Given the description of an element on the screen output the (x, y) to click on. 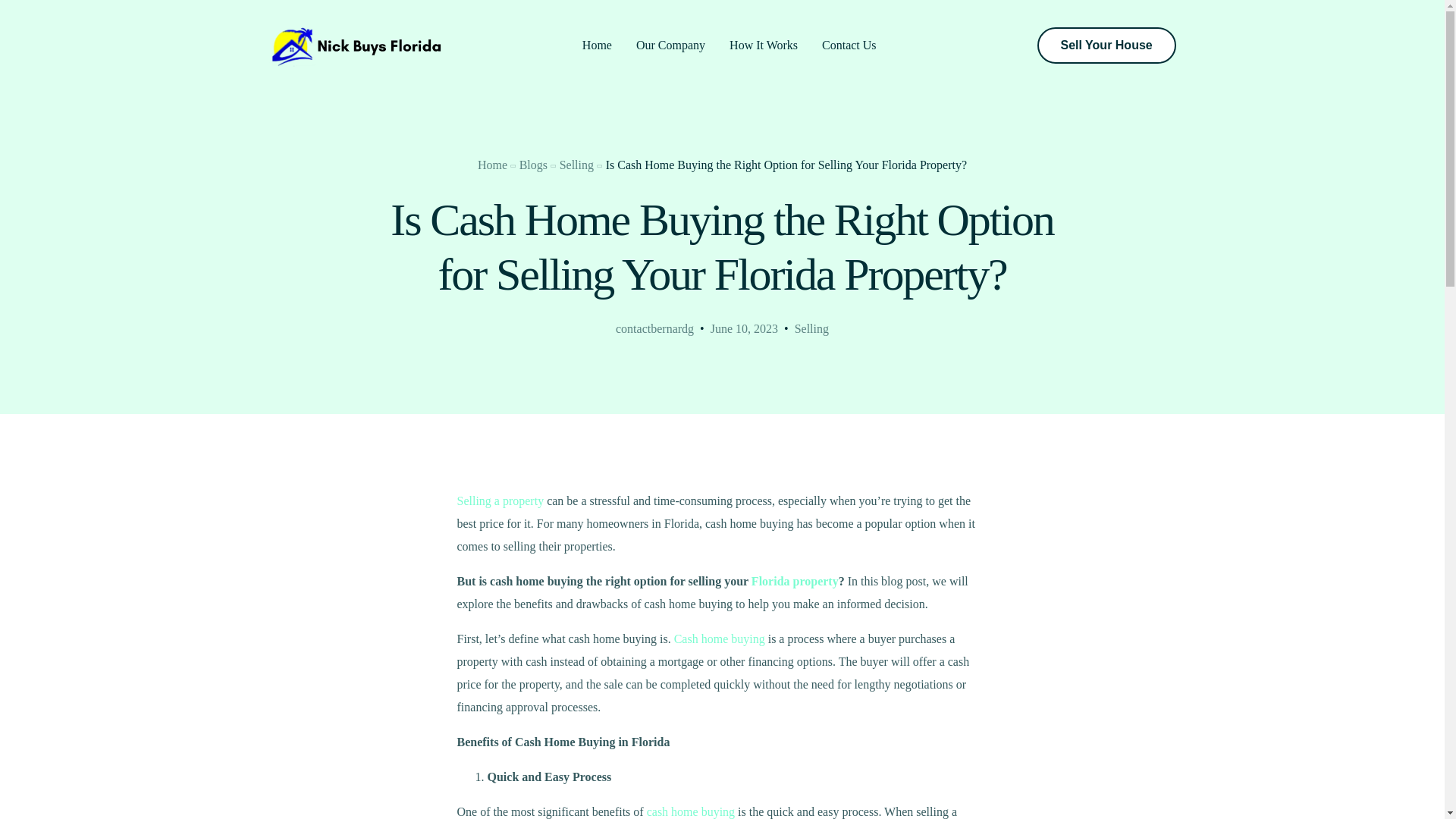
Florida property (794, 581)
Home (597, 45)
Contact Us (848, 45)
Cash home buying (719, 638)
Our Company (670, 45)
Blogs (533, 164)
Selling (576, 164)
Home (491, 164)
Selling a property (500, 500)
cash home buying (690, 811)
Selling (811, 328)
contactbernardg (654, 328)
Sell Your House (1106, 45)
How It Works (763, 45)
